Given the description of an element on the screen output the (x, y) to click on. 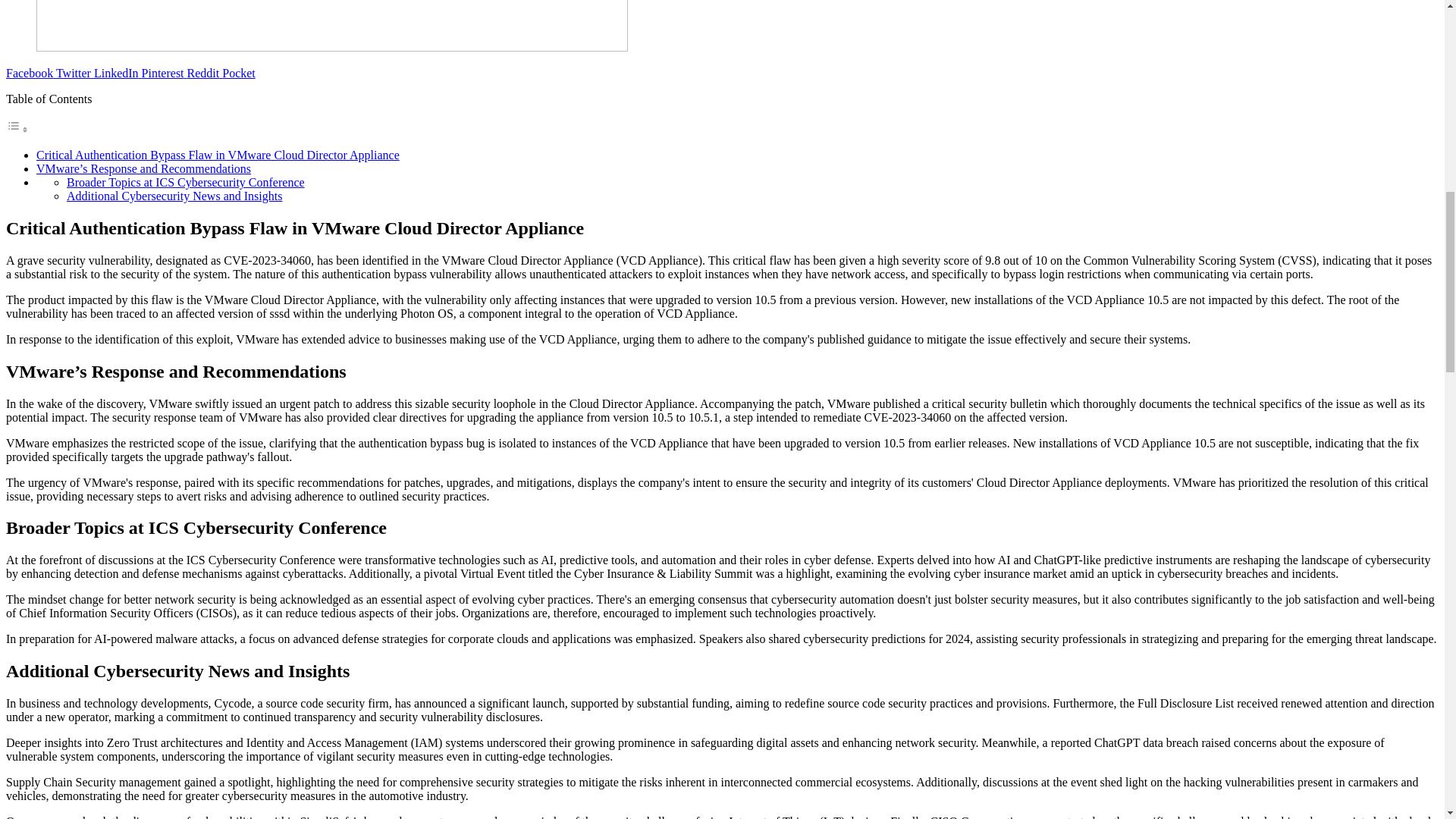
Pinterest (164, 72)
Facebook (30, 72)
Pocket (239, 72)
Twitter (75, 72)
Broader Topics at ICS Cybersecurity Conference (185, 182)
Additional Cybersecurity News and Insights (174, 195)
Additional Cybersecurity News and Insights (174, 195)
Twitter (75, 72)
LinkedIn (117, 72)
Pinterest (164, 72)
Facebook (30, 72)
LinkedIn (117, 72)
Reddit (204, 72)
